Given the description of an element on the screen output the (x, y) to click on. 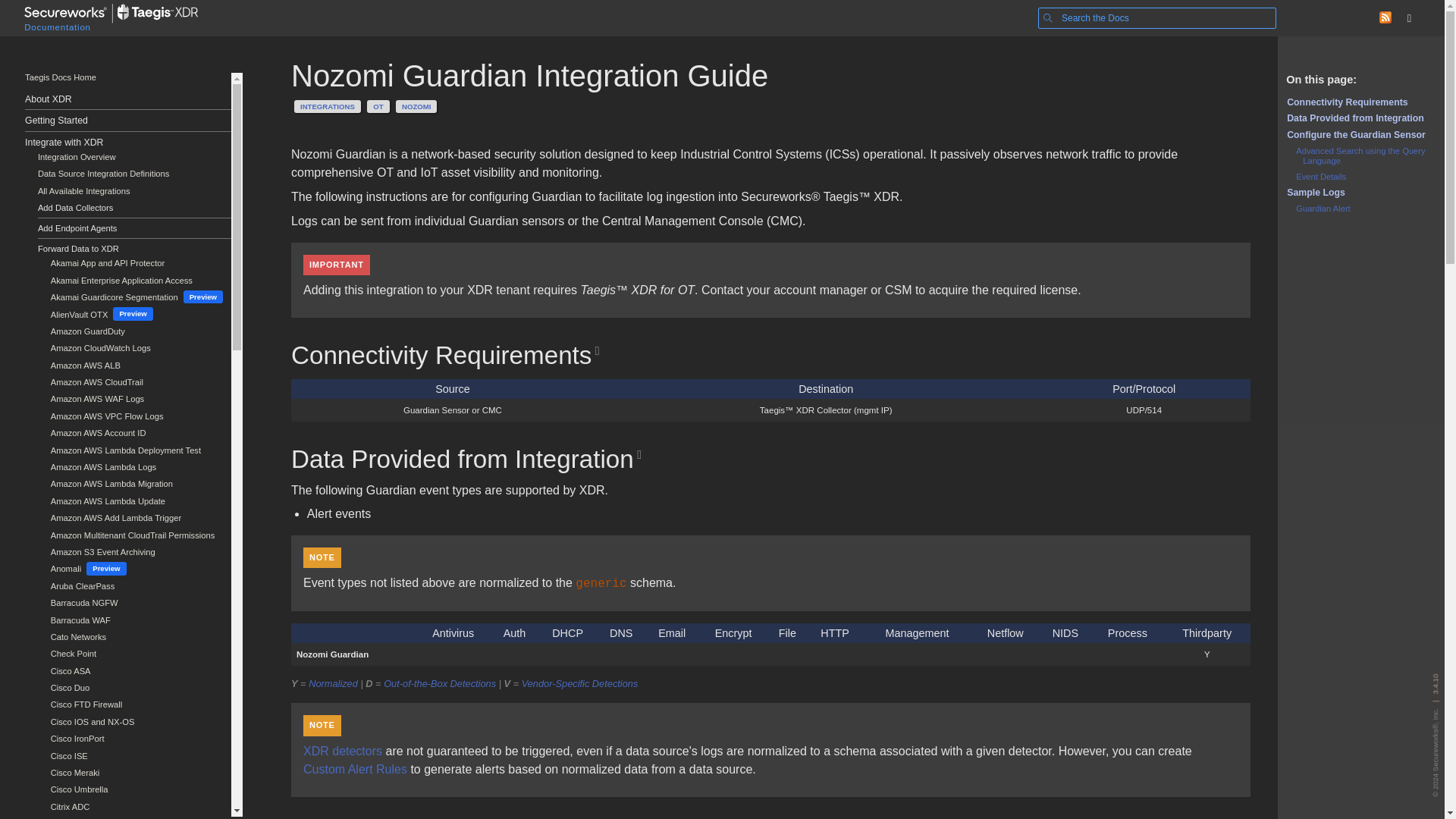
Data Source Integration Definitions (103, 173)
Taegis Docs Home (60, 76)
Integration Overview (76, 156)
Type search term here and Enter (1157, 17)
All Available Integrations (84, 190)
